Given the description of an element on the screen output the (x, y) to click on. 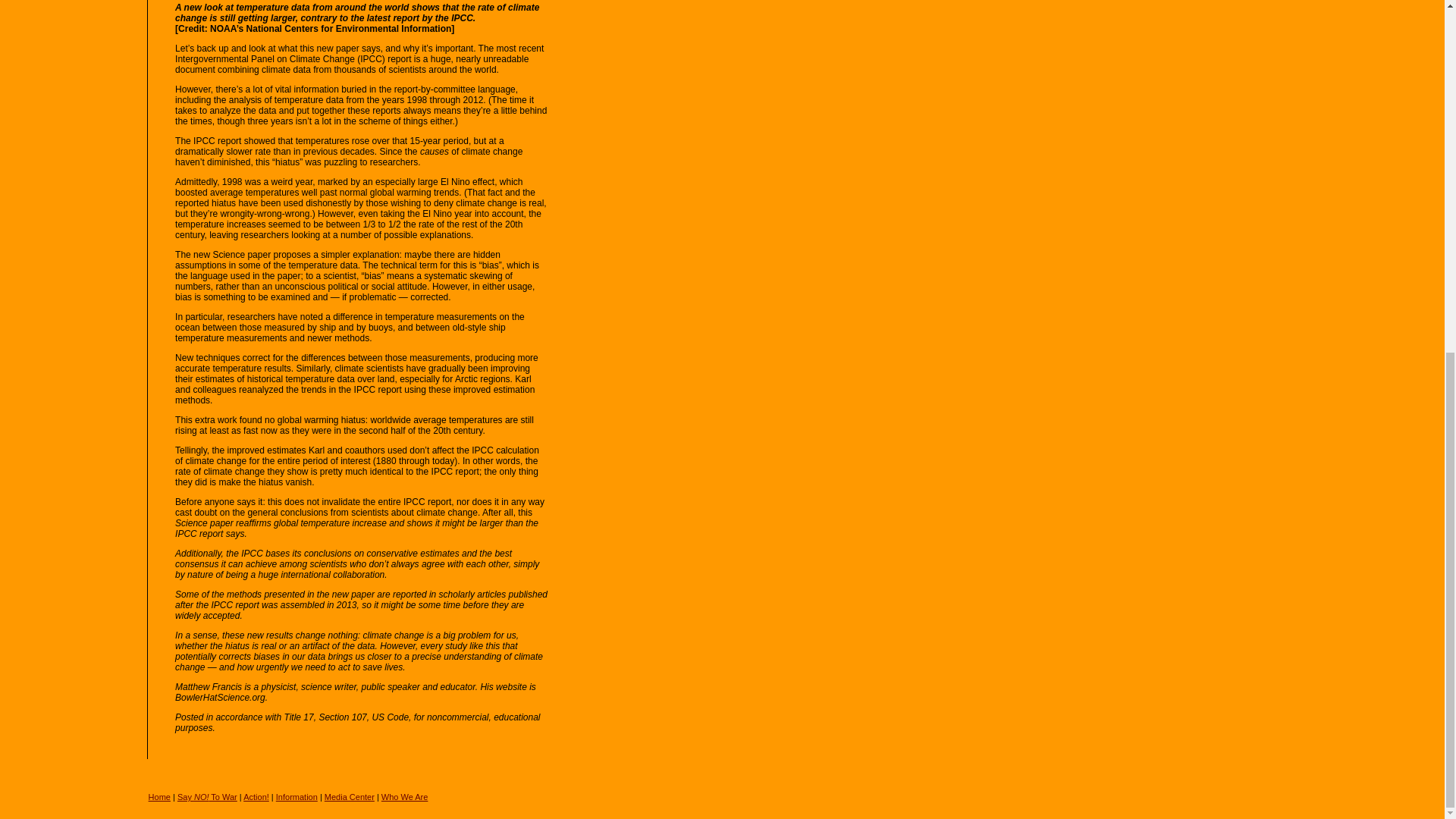
Information (296, 796)
Home (159, 796)
Who We Are (404, 796)
Say NO! To War (207, 796)
Media Center (349, 796)
Action! (256, 796)
